Given the description of an element on the screen output the (x, y) to click on. 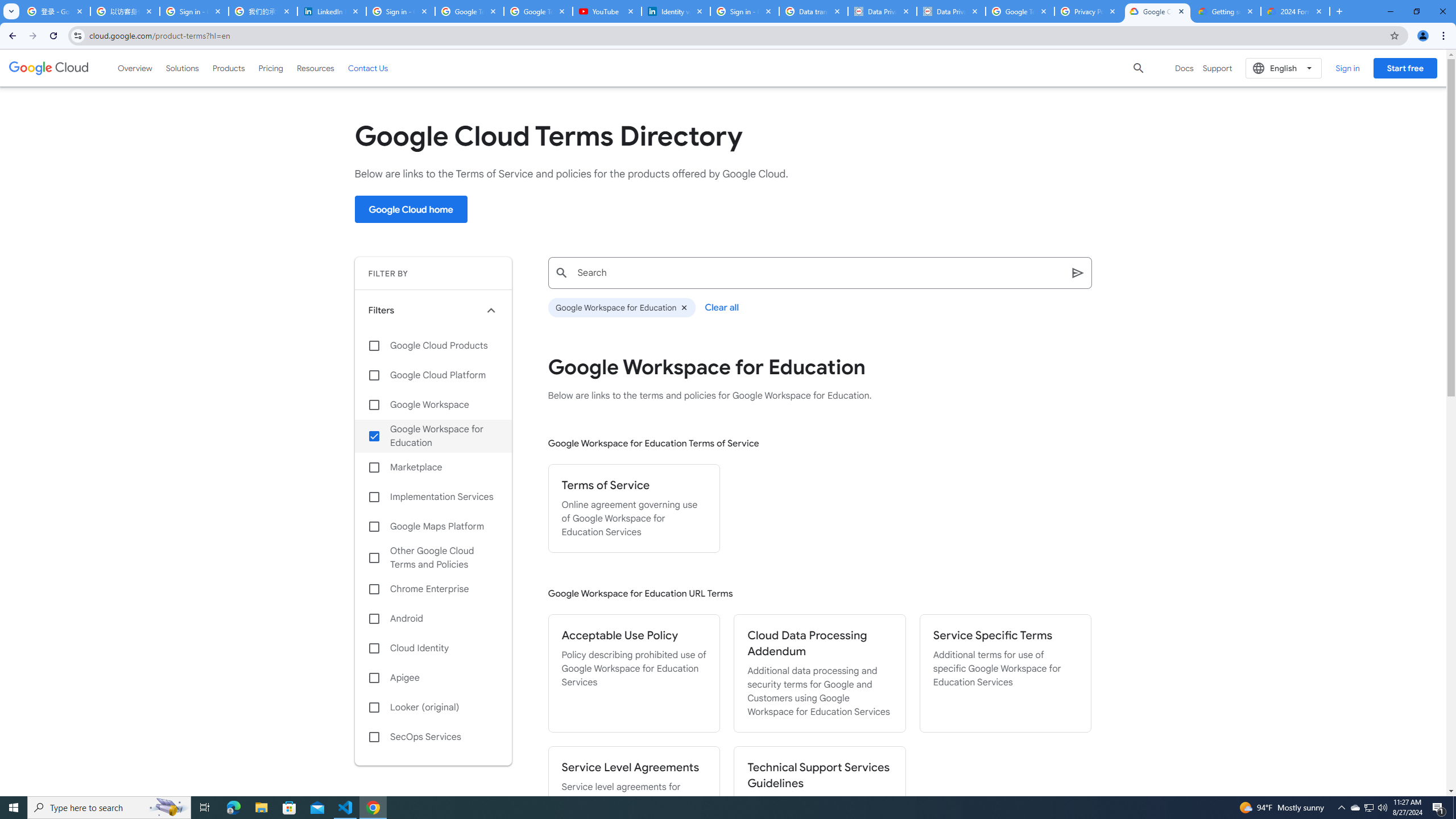
Google Workspace for Education (432, 435)
Sign in - Google Accounts (744, 11)
Google Cloud Platform (432, 374)
Solutions (181, 67)
Clear all (721, 307)
LinkedIn Privacy Policy (331, 11)
Marketplace (432, 467)
Support (1216, 67)
